Given the description of an element on the screen output the (x, y) to click on. 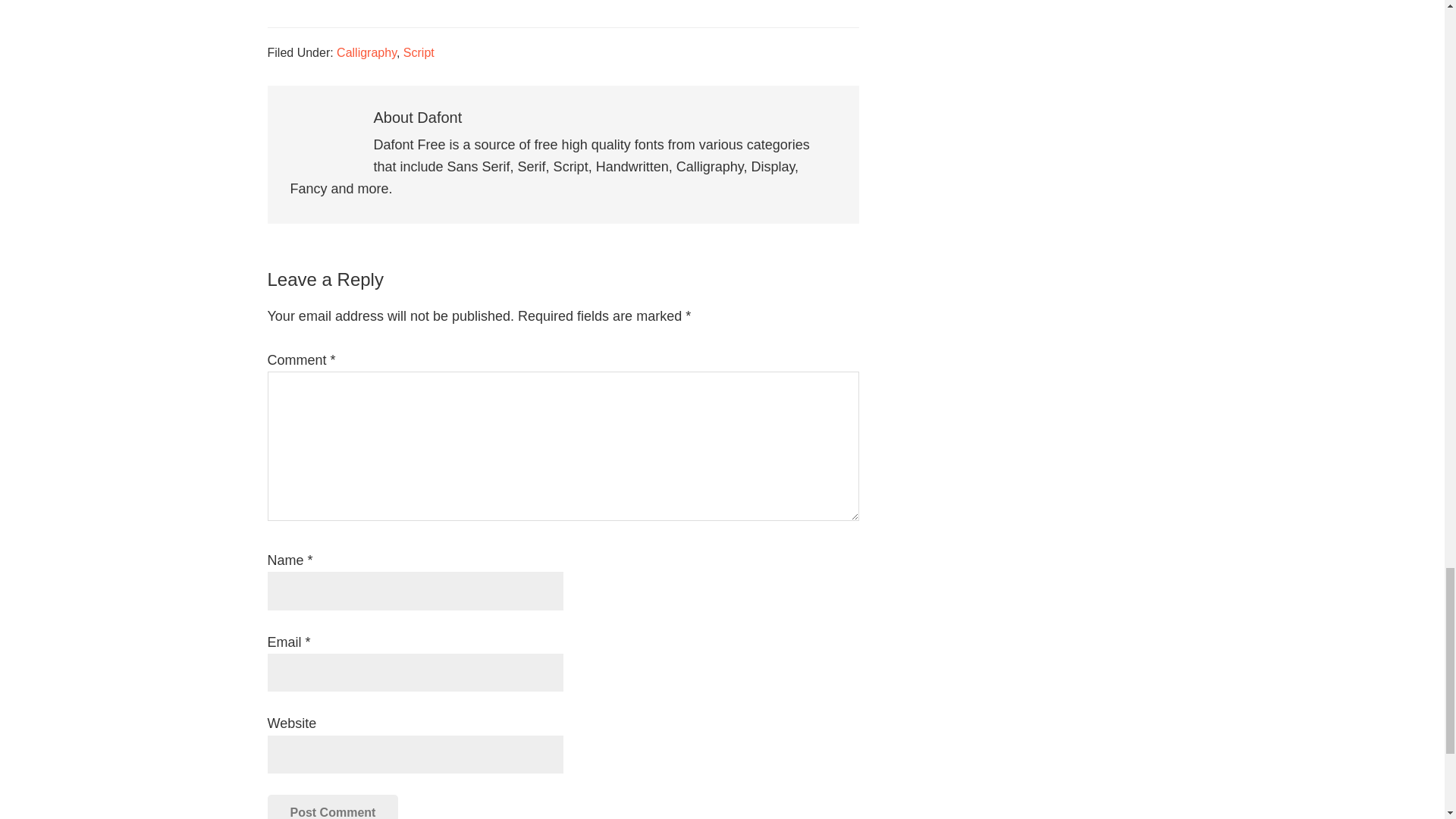
Post Comment (331, 806)
Calligraphy (366, 51)
Post Comment (331, 806)
Script (418, 51)
